Given the description of an element on the screen output the (x, y) to click on. 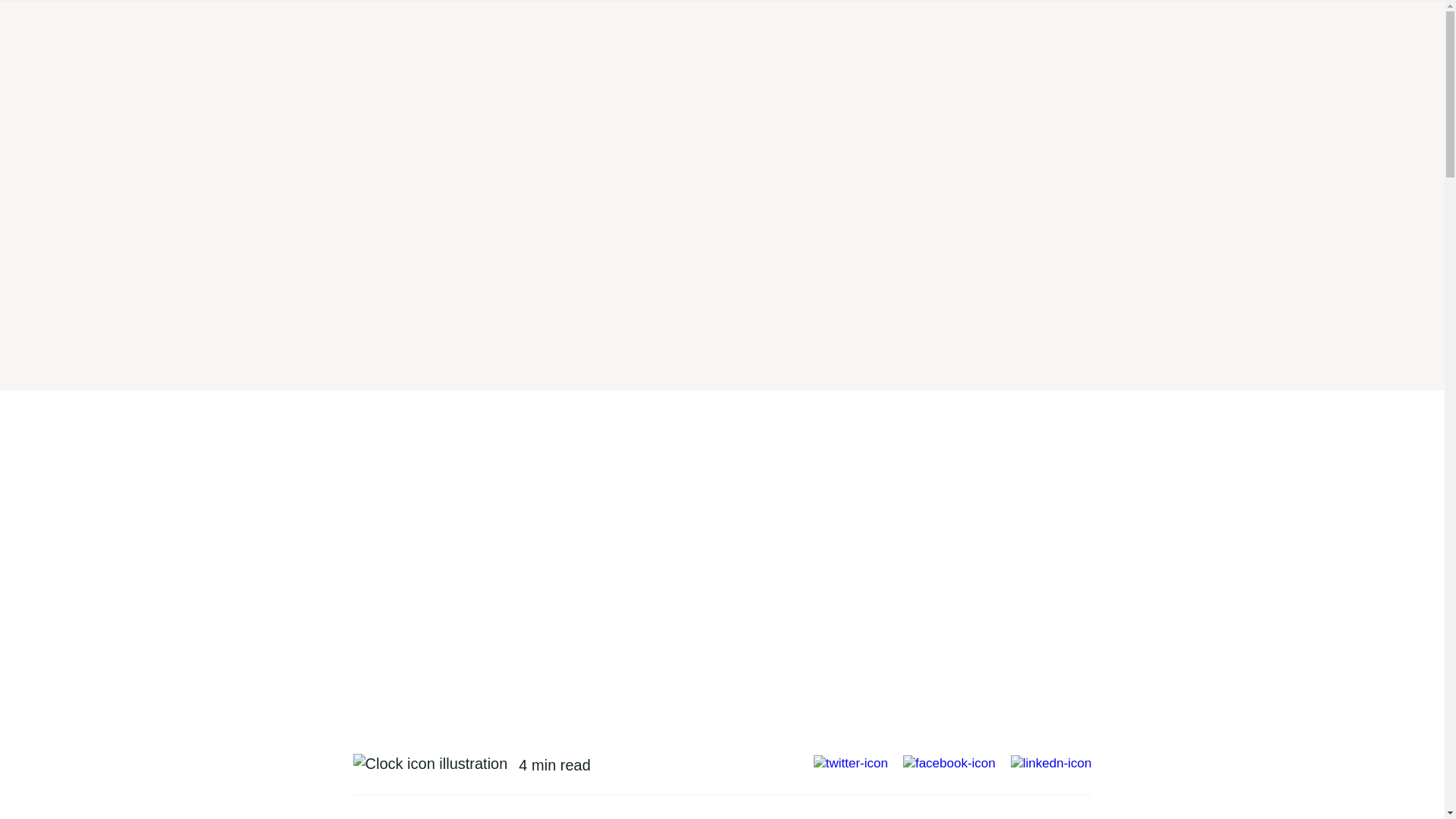
Share on Facebook (948, 764)
Share on Twitter (850, 764)
Share on LinkedIn (1051, 764)
